Given the description of an element on the screen output the (x, y) to click on. 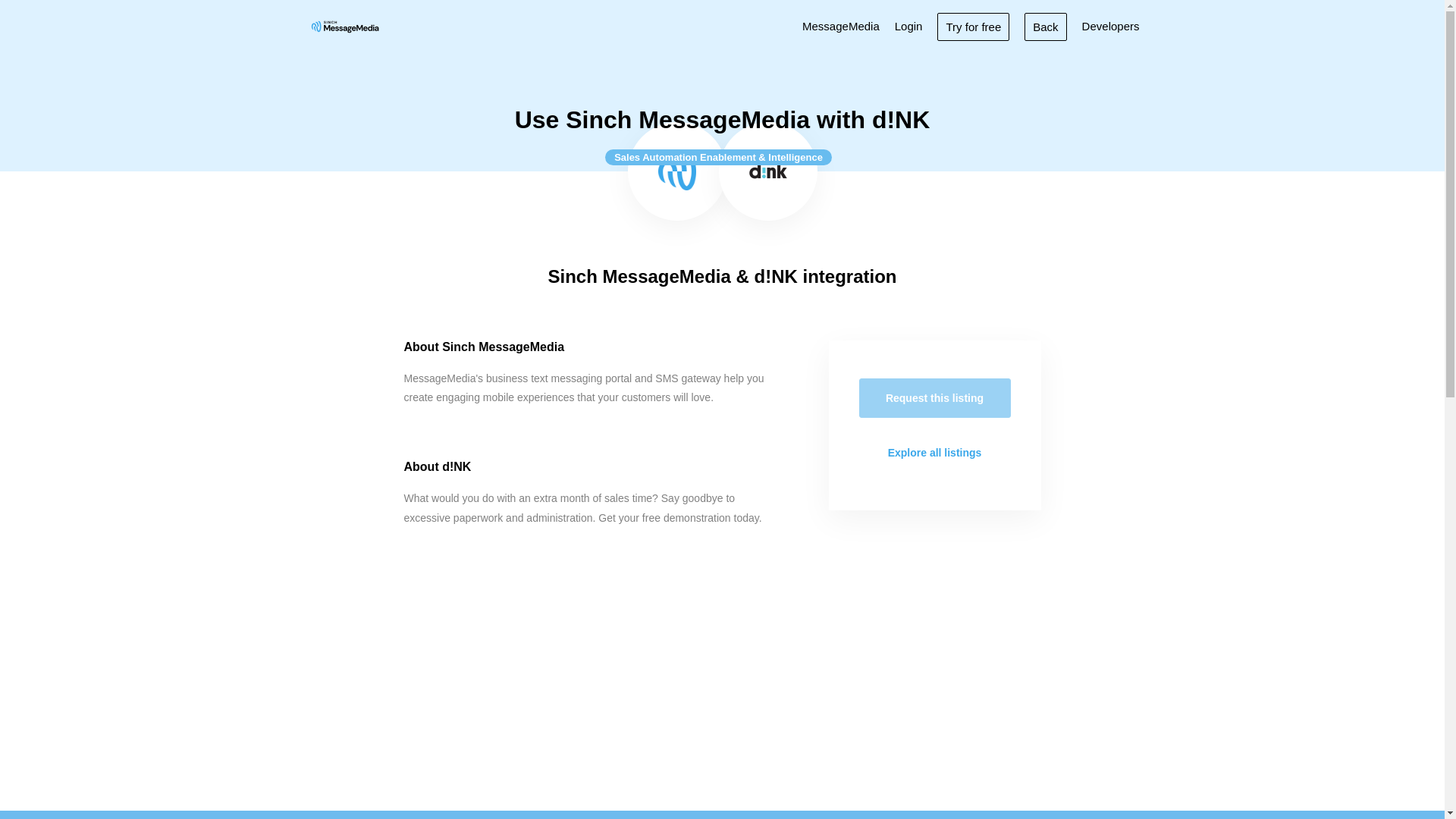
Try for free (973, 26)
Sinch MessageMedia (676, 171)
Back (1045, 26)
Developers (1110, 25)
d!NK (768, 171)
Login (909, 25)
MessageMedia (840, 25)
Request this listing (934, 397)
Sinch MessageMedia (344, 26)
Explore all listings (934, 452)
